Given the description of an element on the screen output the (x, y) to click on. 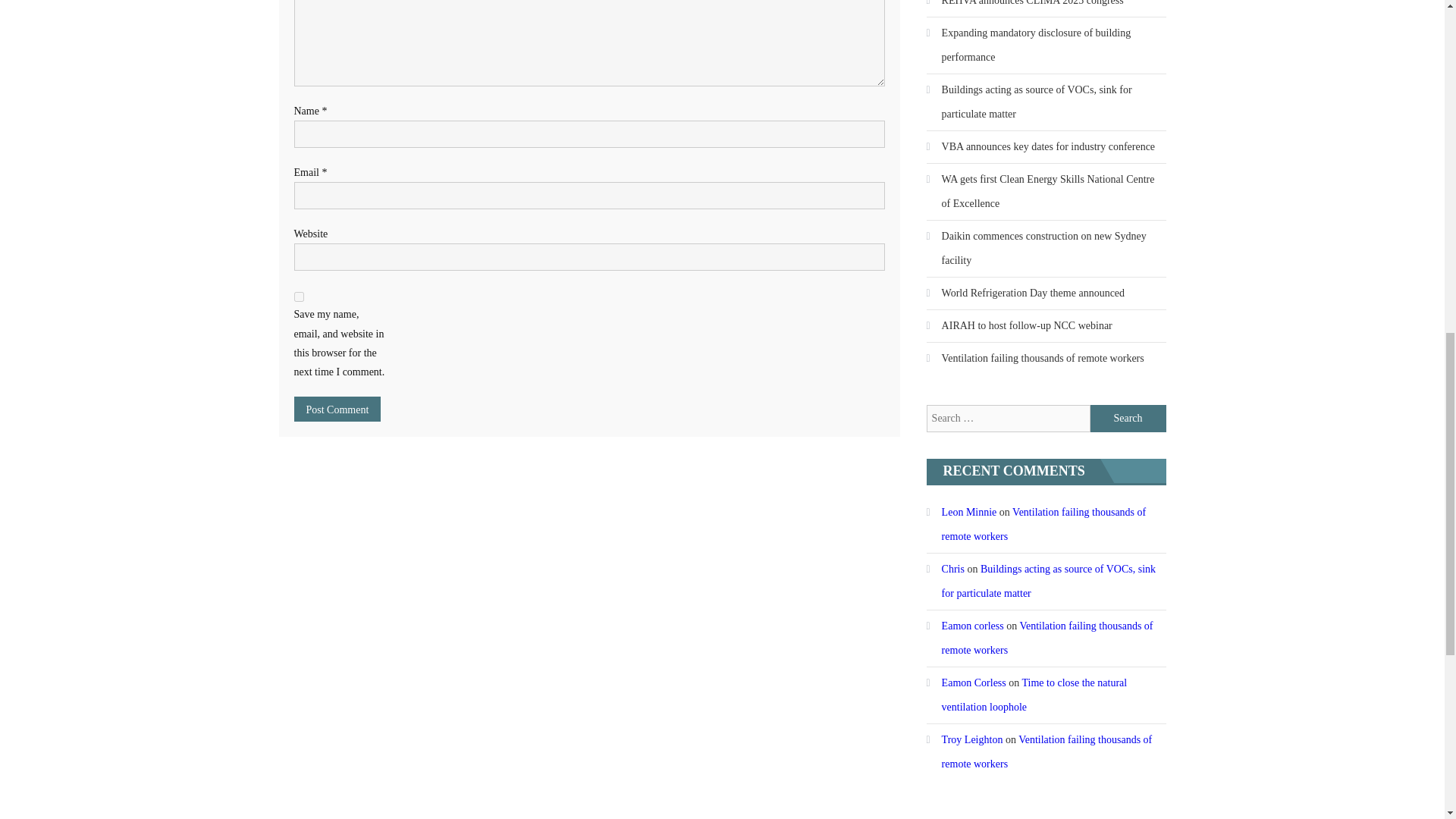
Post Comment (337, 408)
Search (1128, 418)
Search (1128, 418)
yes (299, 296)
